Given the description of an element on the screen output the (x, y) to click on. 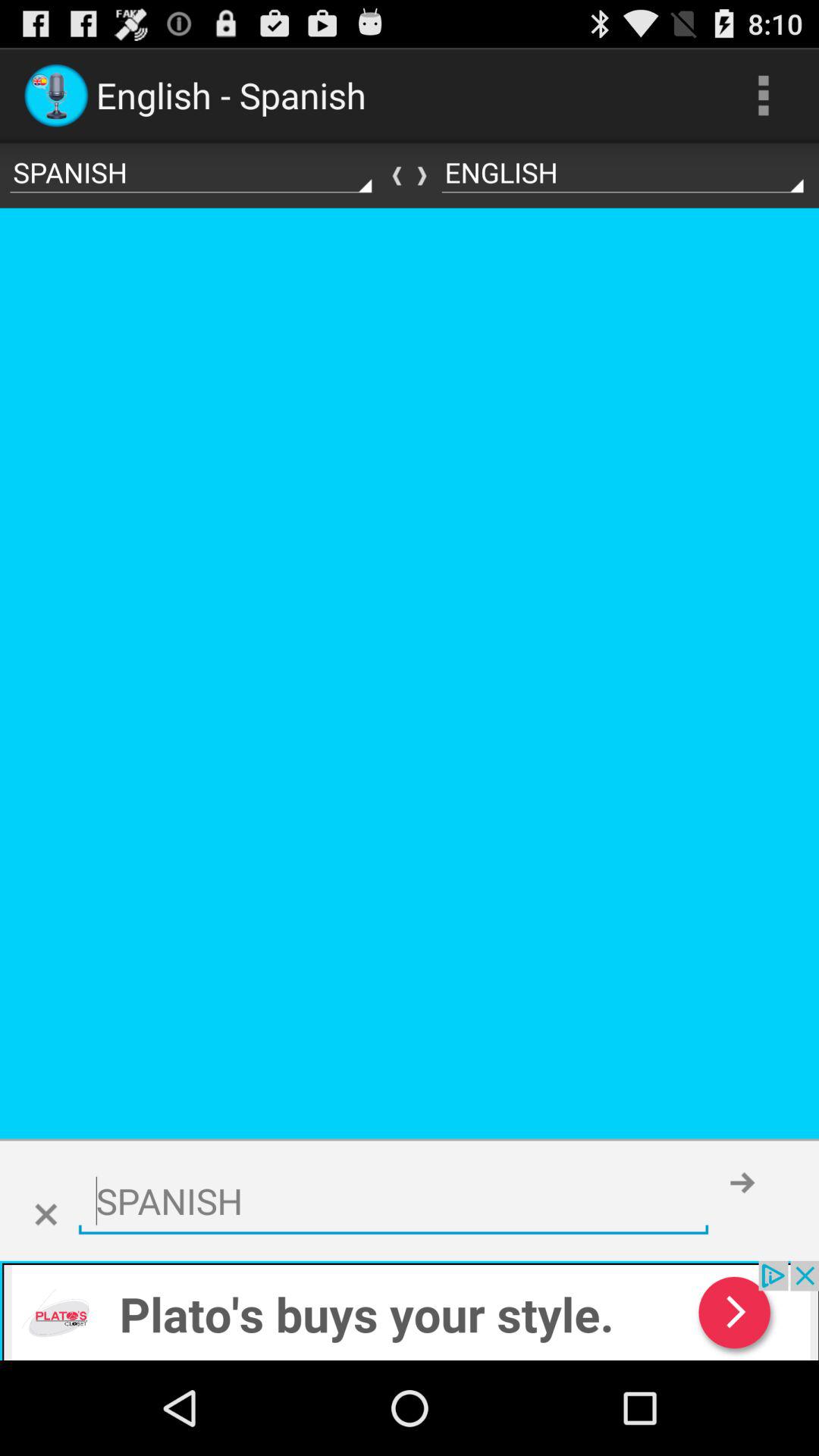
close button (45, 1214)
